Given the description of an element on the screen output the (x, y) to click on. 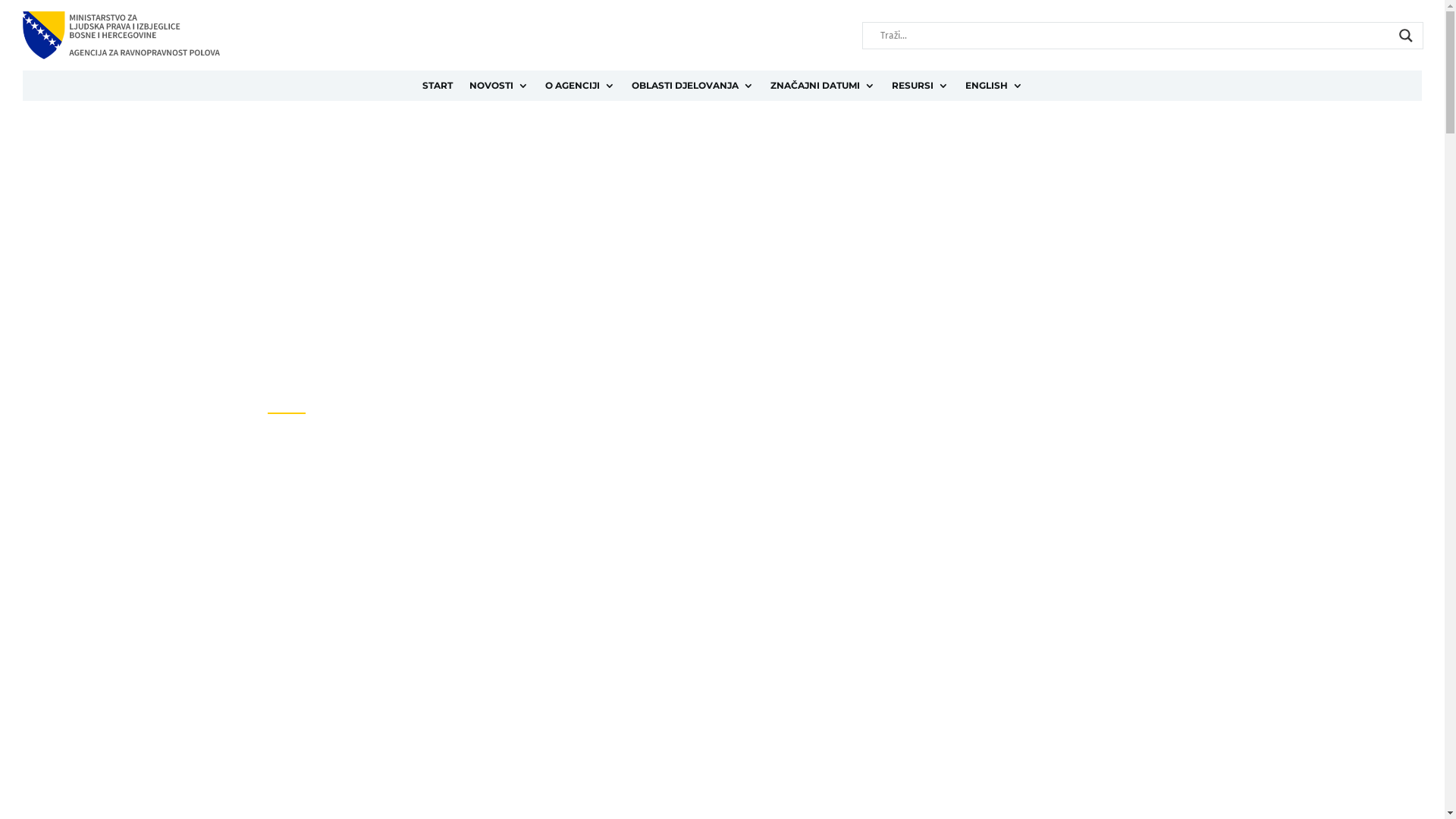
O AGENCIJI Element type: text (579, 88)
OBLASTI DJELOVANJA Element type: text (691, 88)
ENGLISH Element type: text (993, 88)
RESURSI Element type: text (919, 88)
START Element type: text (436, 88)
arsbih-logo-480x117 Element type: hover (120, 35)
NOVOSTI Element type: text (497, 88)
